Given the description of an element on the screen output the (x, y) to click on. 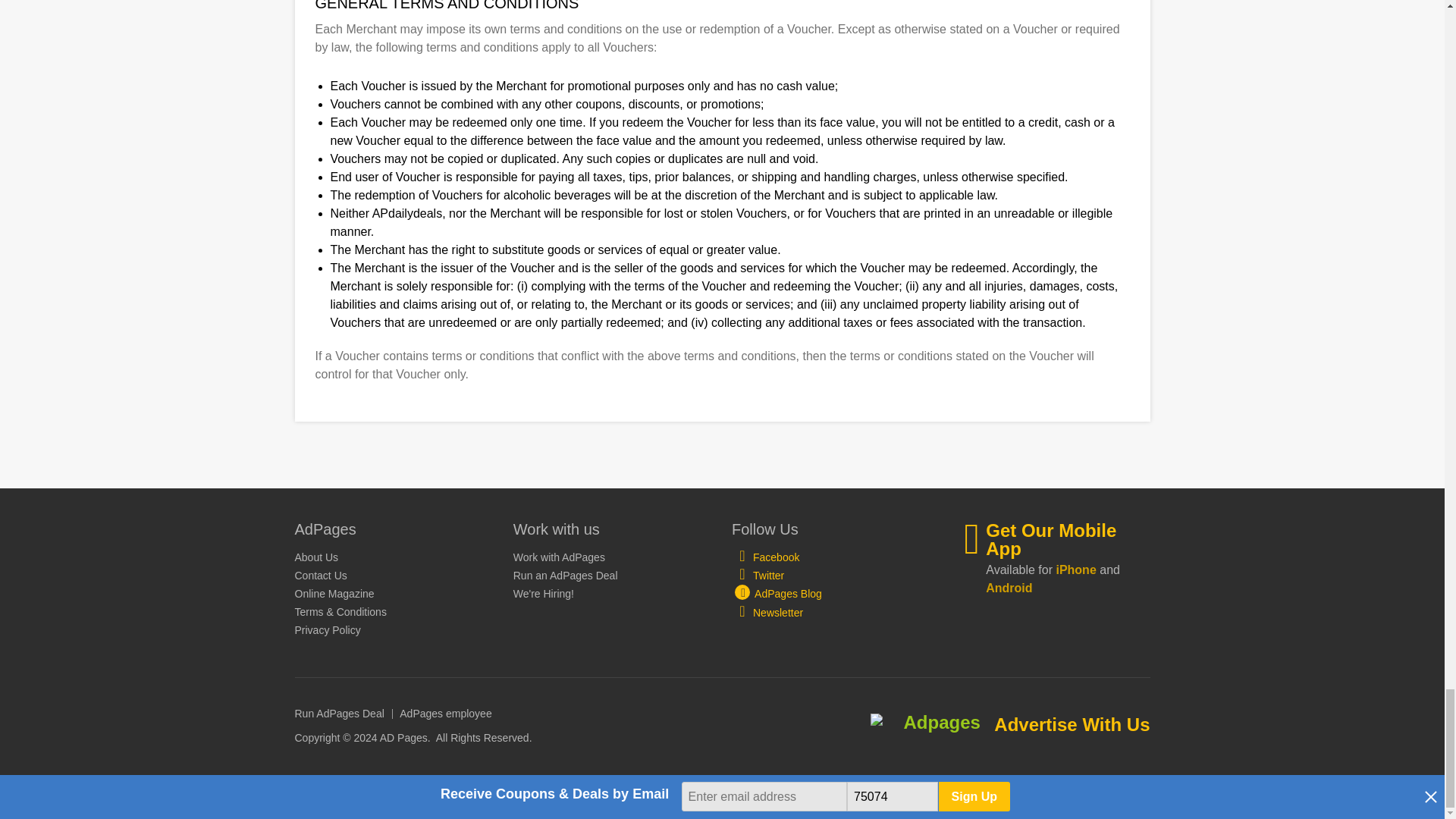
AdPages employee (445, 713)
Contact Us (320, 575)
Newsletter (767, 612)
Facebook (765, 556)
Advertise With Us (1072, 723)
We're Hiring! (543, 593)
Online Magazine (334, 593)
Run an AdPages Deal (565, 575)
Android (1008, 587)
Run AdPages Deal (339, 713)
Privacy Policy (326, 630)
About Us (315, 557)
Twitter (758, 575)
  AdPages Blog (777, 593)
Work with AdPages (559, 557)
